Given the description of an element on the screen output the (x, y) to click on. 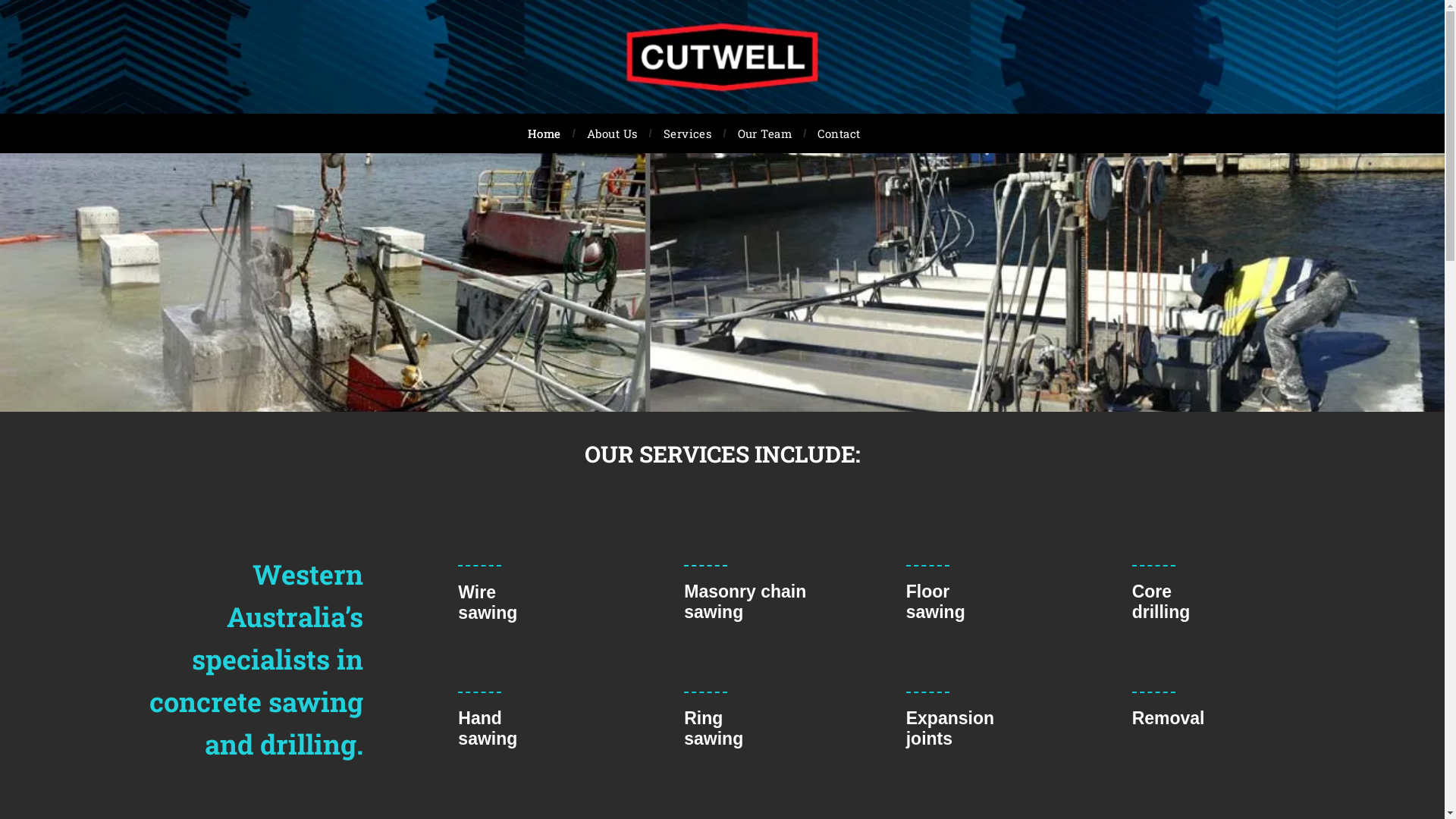
Contact Element type: text (838, 133)
Home Element type: text (544, 133)
Our Team Element type: text (764, 133)
About Us Element type: text (612, 133)
Services Element type: text (687, 133)
